Given the description of an element on the screen output the (x, y) to click on. 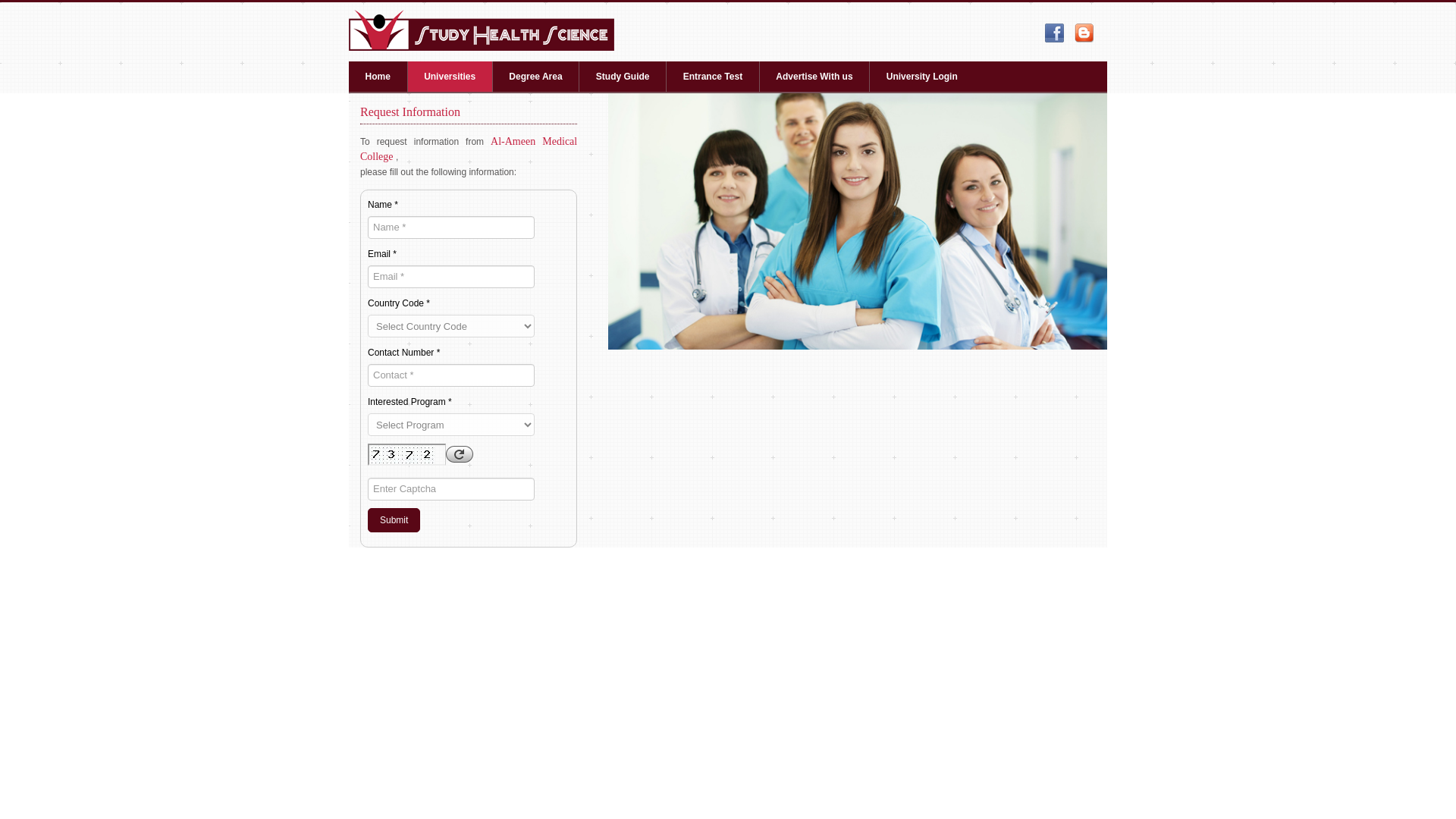
Home (378, 76)
Advertise With us (814, 76)
Degree Area (536, 76)
Submit (394, 519)
University Login (921, 76)
Follow us on Blogger (1083, 32)
Submit (394, 519)
Follow us on Facebook (1054, 32)
Entrance Test (713, 76)
Universities (450, 76)
